Given the description of an element on the screen output the (x, y) to click on. 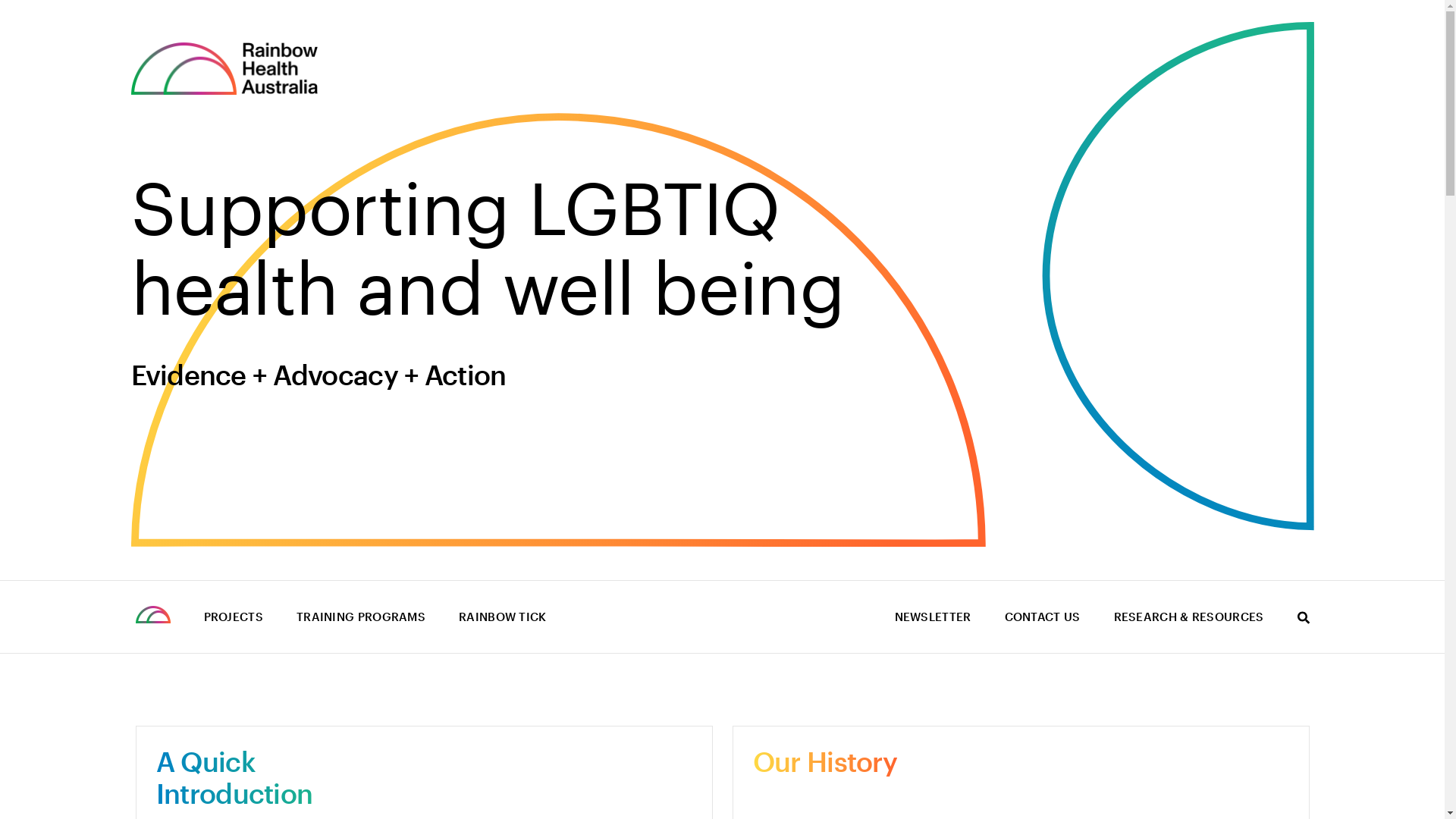
RAINBOW TICK Element type: text (502, 616)
NEWSLETTER Element type: text (932, 616)
CONTACT US Element type: text (1041, 616)
TRAINING PROGRAMS Element type: text (360, 616)
PROJECTS Element type: text (232, 616)
RESEARCH & RESOURCES Element type: text (1188, 616)
